Given the description of an element on the screen output the (x, y) to click on. 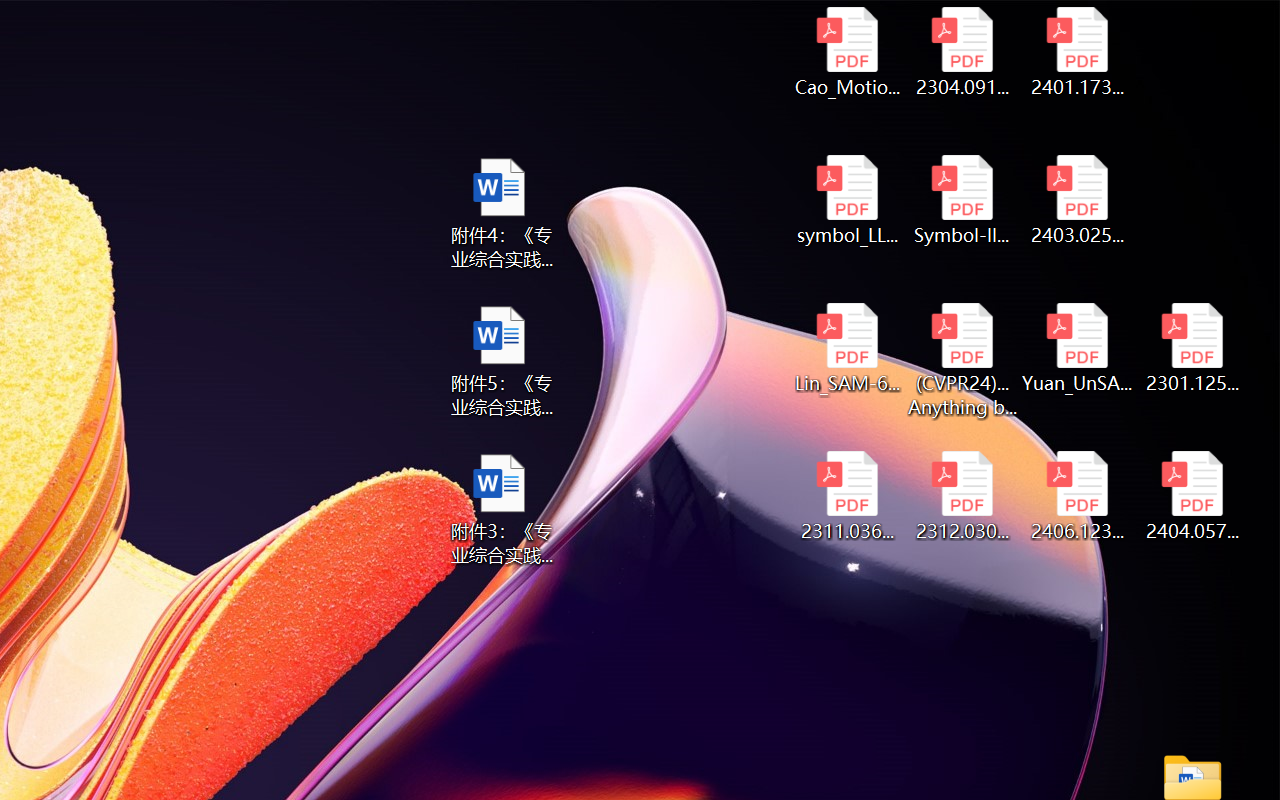
2404.05719v1.pdf (1192, 496)
Symbol-llm-v2.pdf (962, 200)
